Given the description of an element on the screen output the (x, y) to click on. 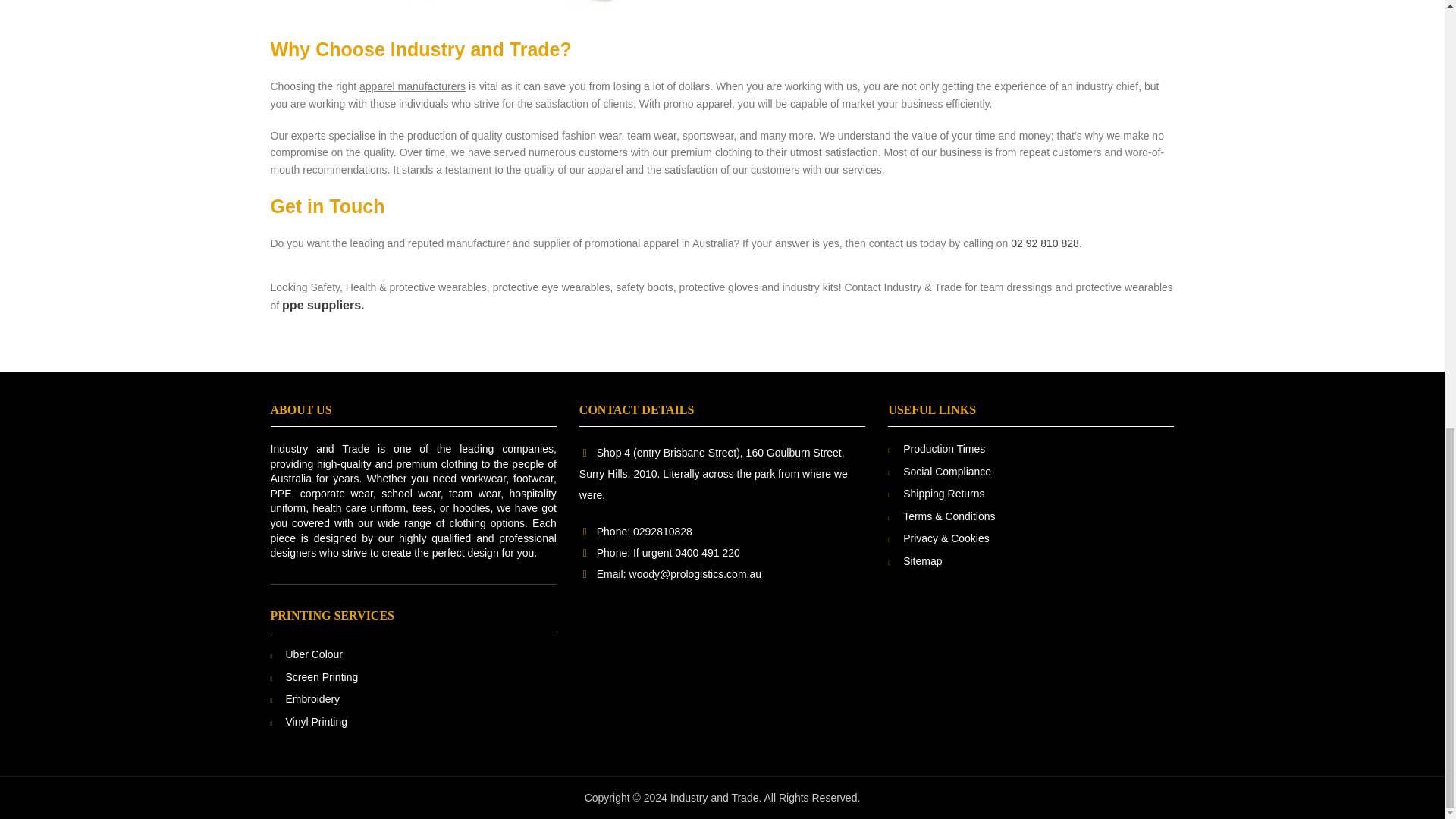
Shipping Returns (943, 493)
Uber Colour (313, 654)
0400 491 220 (707, 552)
ppe suppliers. (323, 305)
Social Compliance (946, 471)
02 92 810 828 (1044, 243)
Vinyl Printing (315, 721)
Production Times (943, 449)
Sitemap (922, 561)
0292810828 (663, 531)
